Given the description of an element on the screen output the (x, y) to click on. 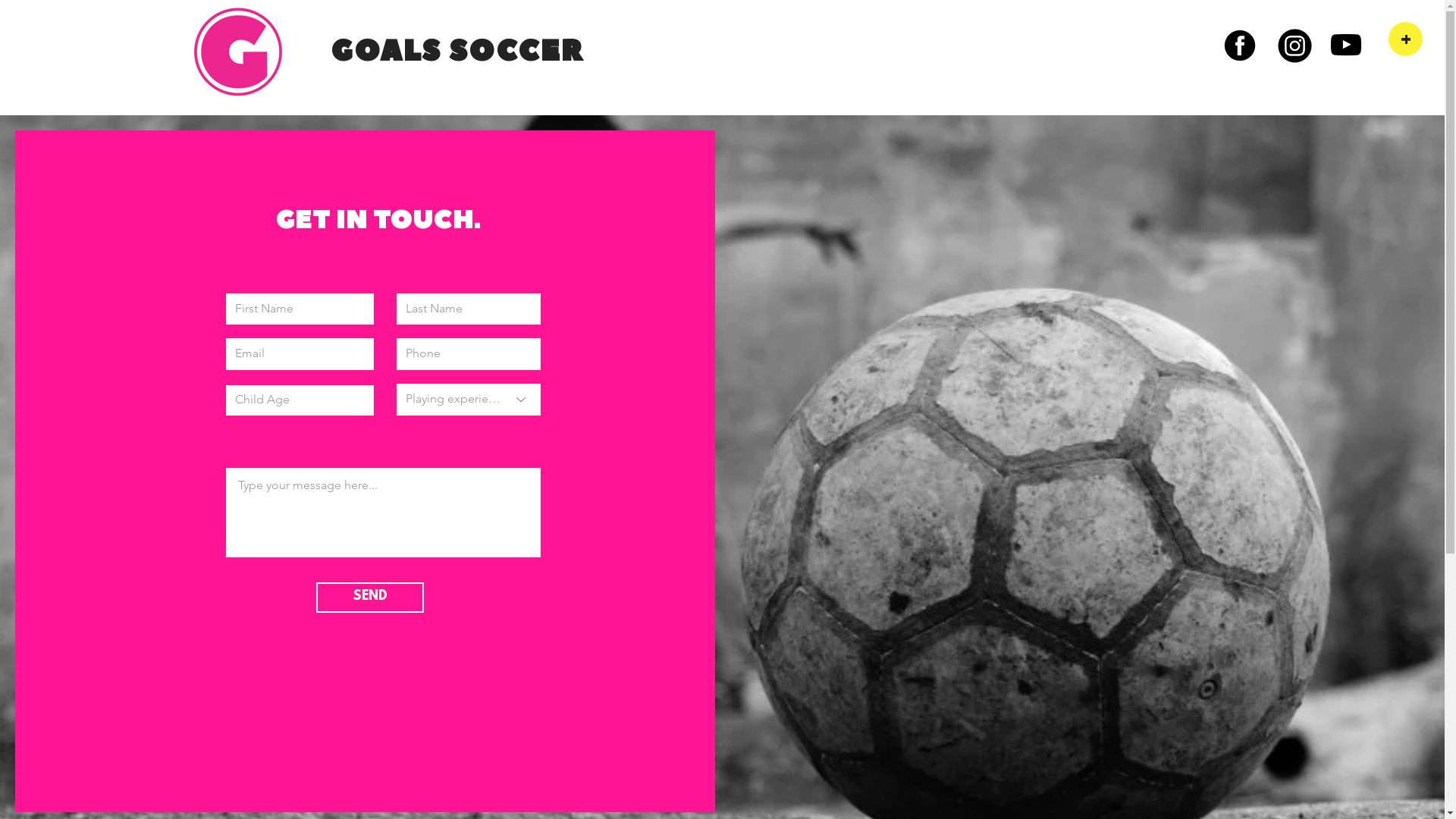
GOALS SOCCER  Element type: text (457, 48)
Sunball Element type: hover (237, 50)
+ Element type: text (1405, 38)
Youtube Element type: hover (1346, 43)
Facebook Element type: hover (1239, 45)
Instagram Element type: hover (1294, 45)
SEND Element type: text (369, 597)
